Given the description of an element on the screen output the (x, y) to click on. 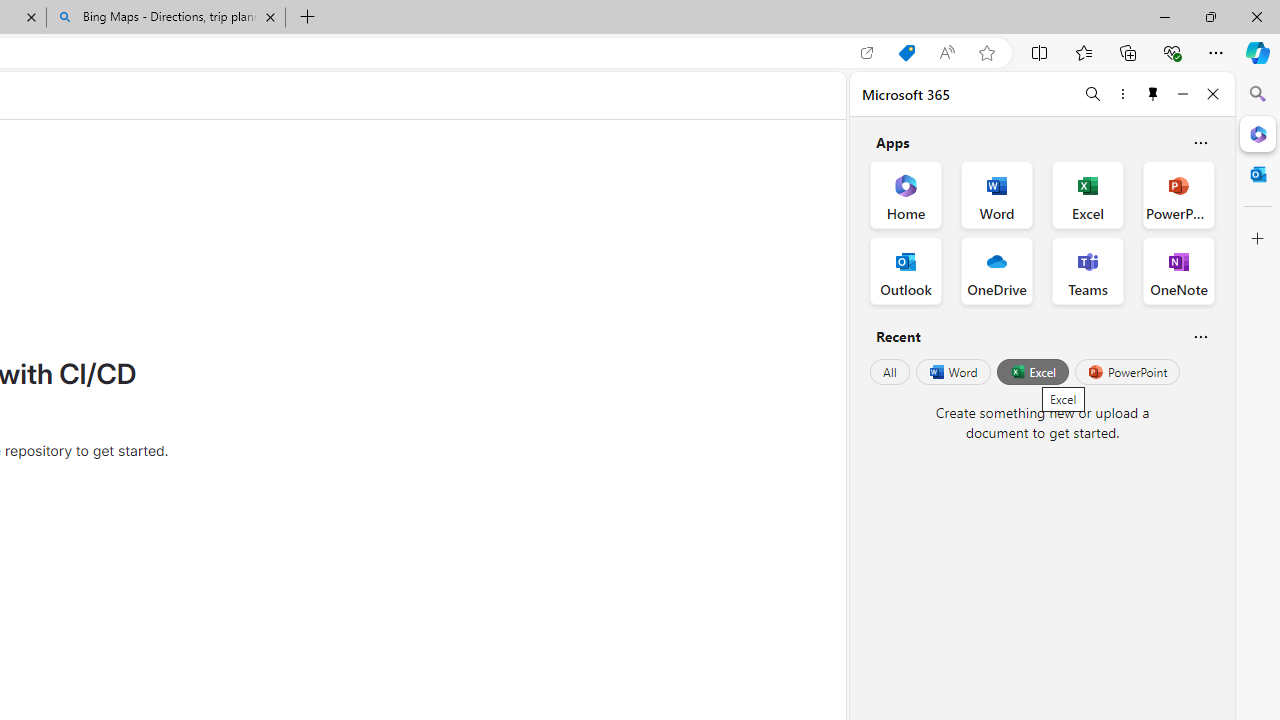
Word Office App (996, 194)
OneNote Office App (1178, 270)
